Given the description of an element on the screen output the (x, y) to click on. 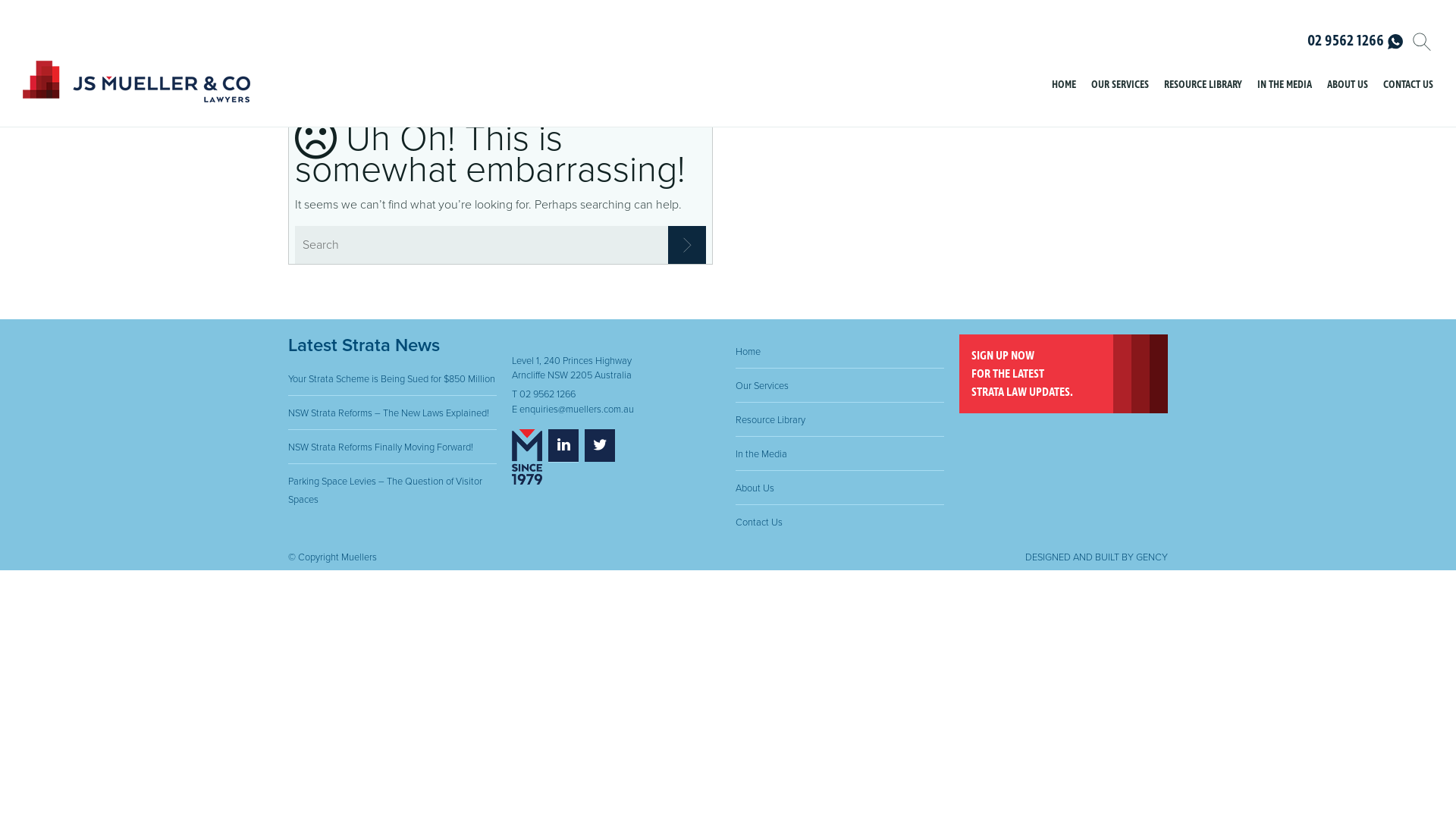
02 9562 1266 Element type: text (1354, 41)
About Us Element type: text (754, 488)
CONTACT US Element type: text (1408, 86)
RESOURCE LIBRARY Element type: text (1203, 86)
LinkedIn Element type: hover (563, 445)
SIGN UP NOW
FOR THE LATEST
STRATA LAW UPDATES. Element type: text (1063, 373)
Twitter Element type: hover (599, 445)
GENCY Element type: text (1151, 557)
Search Element type: text (687, 244)
enquiries@muellers.com.au Element type: text (576, 409)
Skip to content Element type: text (1074, 69)
In the Media Element type: text (761, 454)
NSW Strata Reforms Finally Moving Forward! Element type: text (380, 447)
OUR SERVICES Element type: text (1119, 86)
Resource Library Element type: text (770, 420)
ABOUT US Element type: text (1347, 86)
IN THE MEDIA Element type: text (1284, 86)
Our Services Element type: text (761, 385)
Your Strata Scheme is Being Sued for $850 Million Element type: text (391, 379)
Contact Us Element type: text (758, 522)
Home Element type: text (747, 351)
HOME Element type: text (1063, 86)
